Given the description of an element on the screen output the (x, y) to click on. 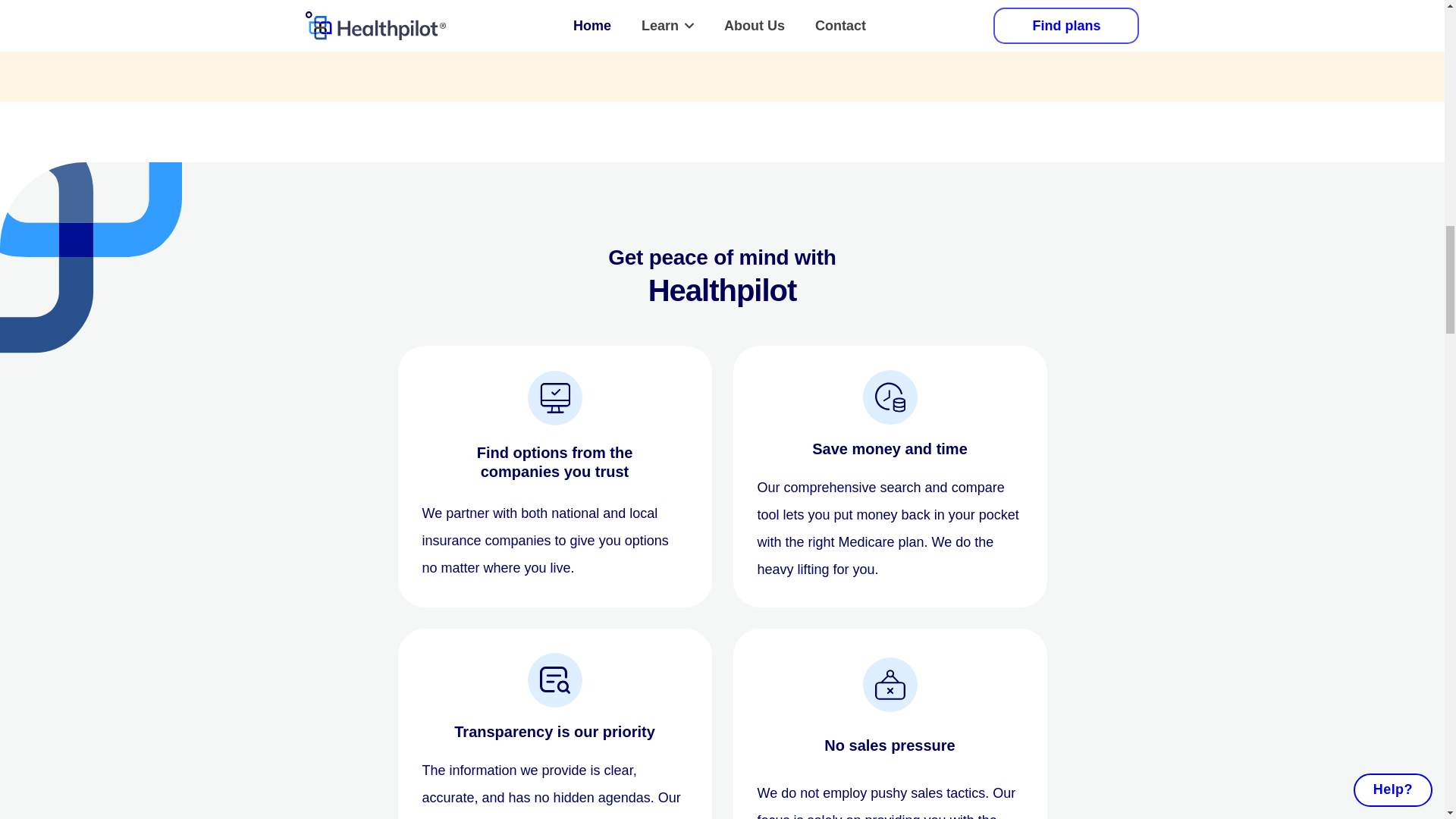
See More Customer Stories (721, 8)
